Given the description of an element on the screen output the (x, y) to click on. 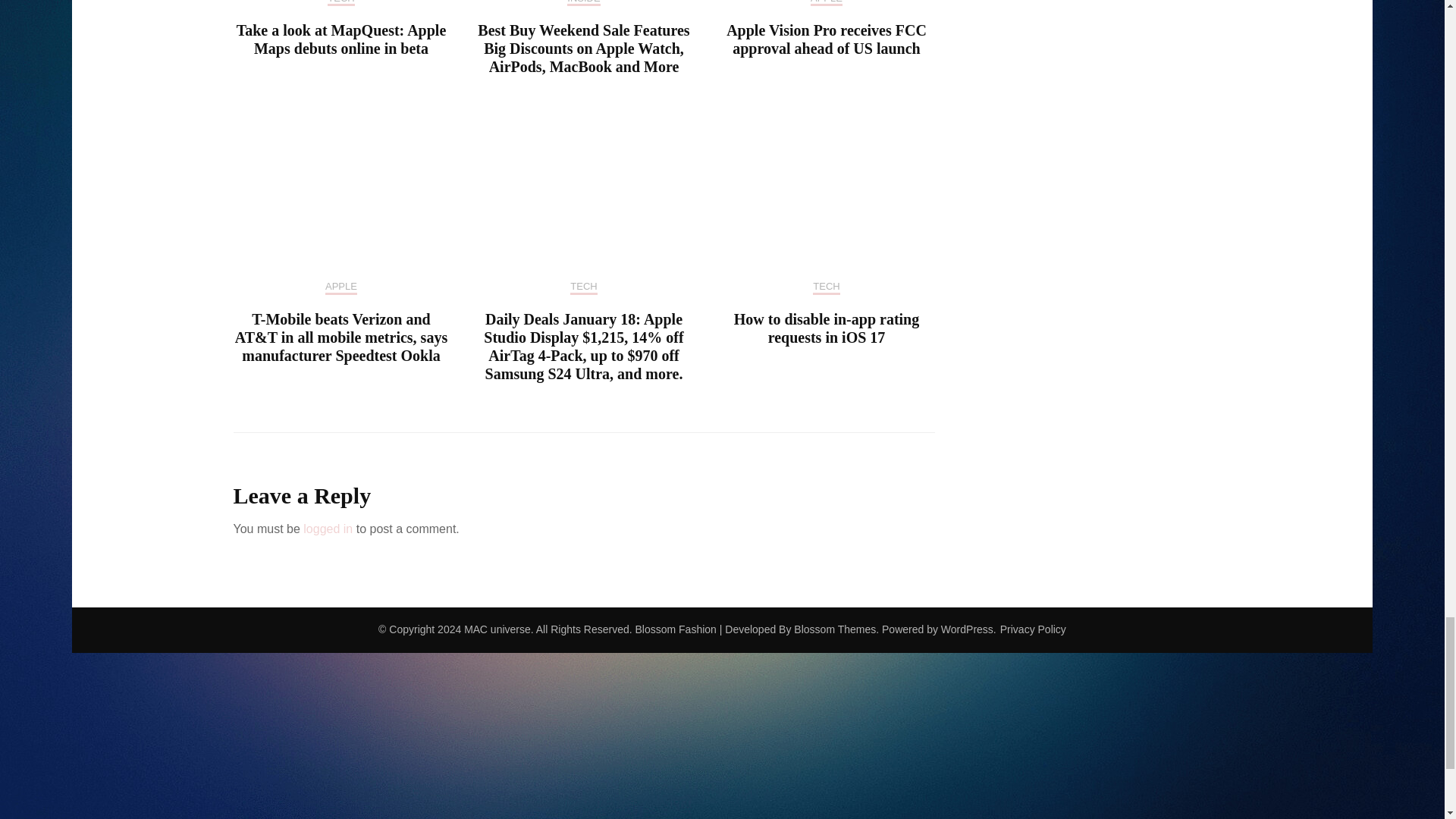
Take a look at MapQuest: Apple Maps debuts online in beta (340, 39)
TECH (340, 3)
